Given the description of an element on the screen output the (x, y) to click on. 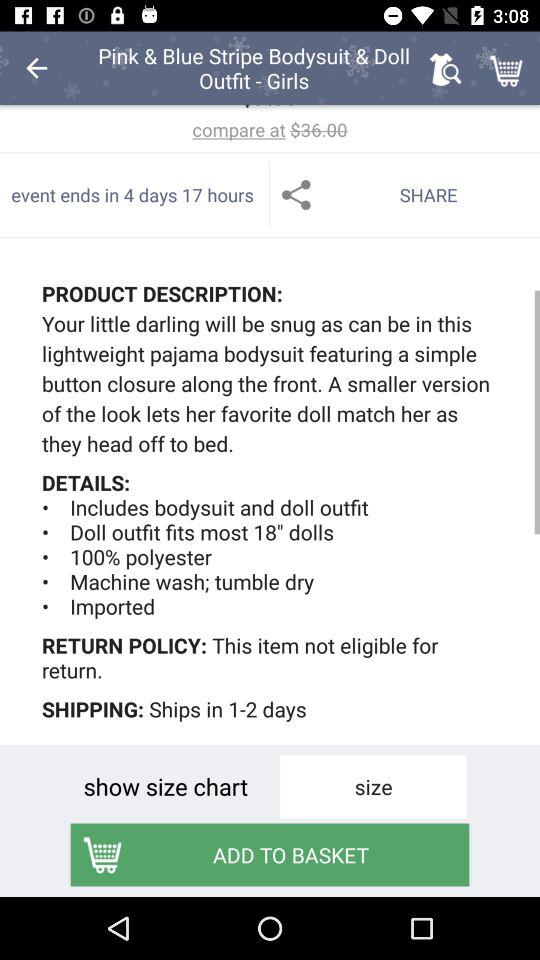
turn off icon above the add to basket icon (165, 786)
